Given the description of an element on the screen output the (x, y) to click on. 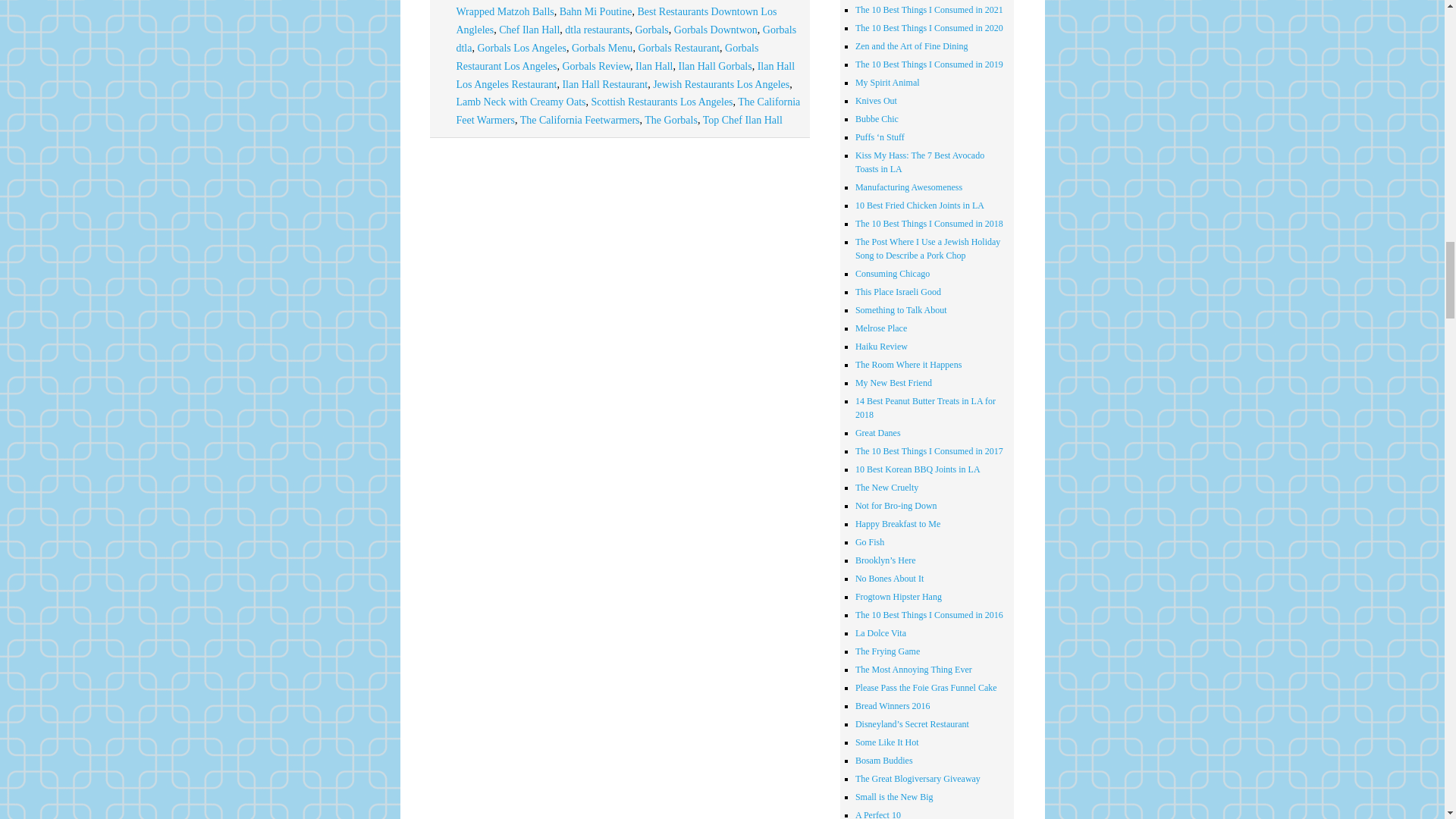
Chef Ilan Hall (529, 30)
Gorbals Downtwon (715, 30)
Gorbals Menu (602, 48)
Gorbals dtla (625, 39)
Best Restaurants Downtown Los Angleles (615, 20)
Gorbals (651, 30)
Bahn Mi Poutine (595, 11)
dtla restaurants (596, 30)
Gorbals Restaurant (678, 48)
Bacon Wrapped Matzoh Balls (627, 9)
Gorbals Los Angeles (521, 48)
